Given the description of an element on the screen output the (x, y) to click on. 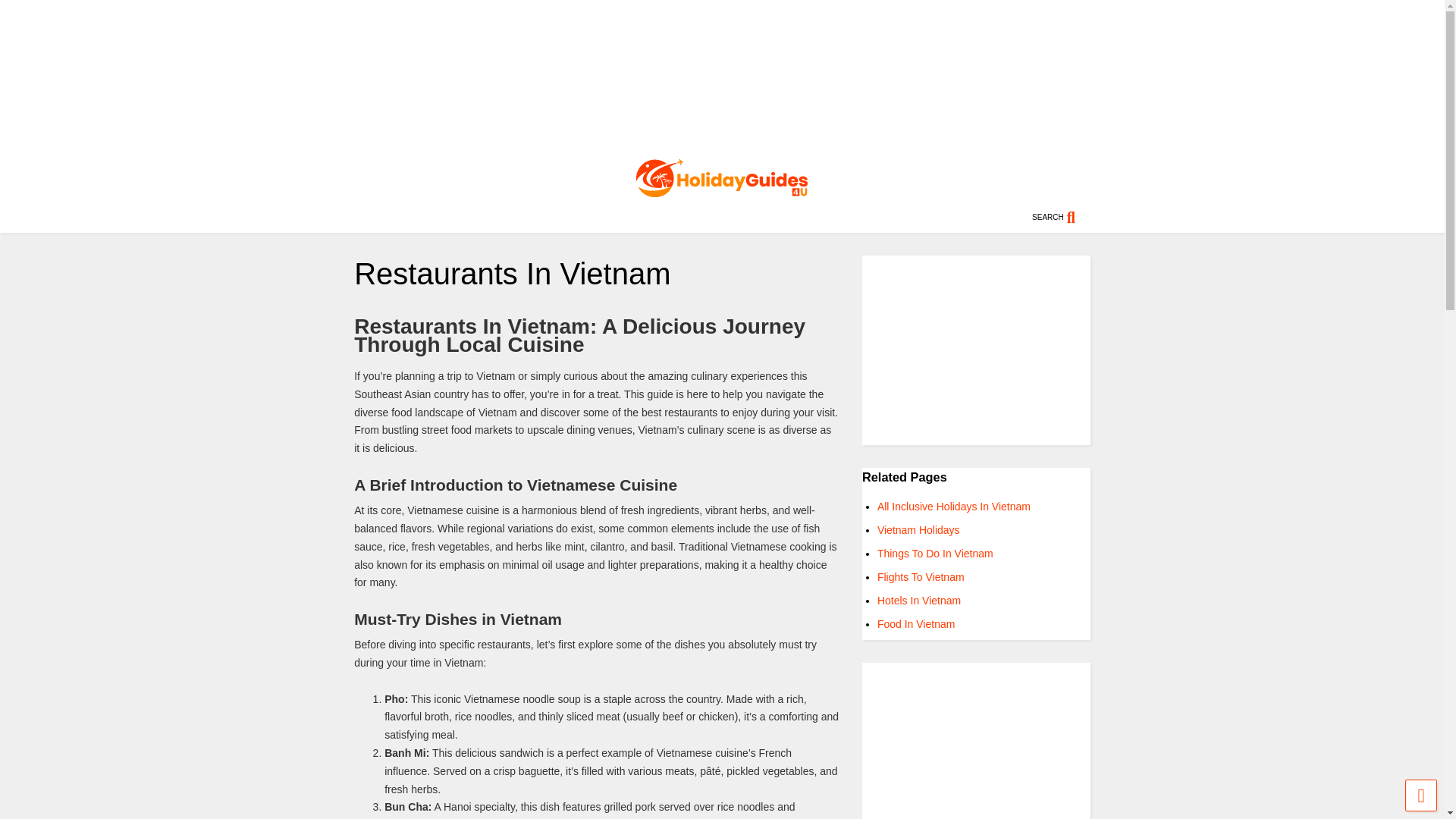
Advertisement (975, 740)
Hotels In Vietnam (918, 600)
All Inclusive Holidays In Vietnam (953, 506)
Vietnam Holidays (918, 530)
SEARCH (1061, 217)
Flights To Vietnam (920, 576)
Food In Vietnam (916, 623)
Things To Do In Vietnam (934, 553)
Holiday Guides 4 U (721, 190)
Advertisement (975, 350)
